Given the description of an element on the screen output the (x, y) to click on. 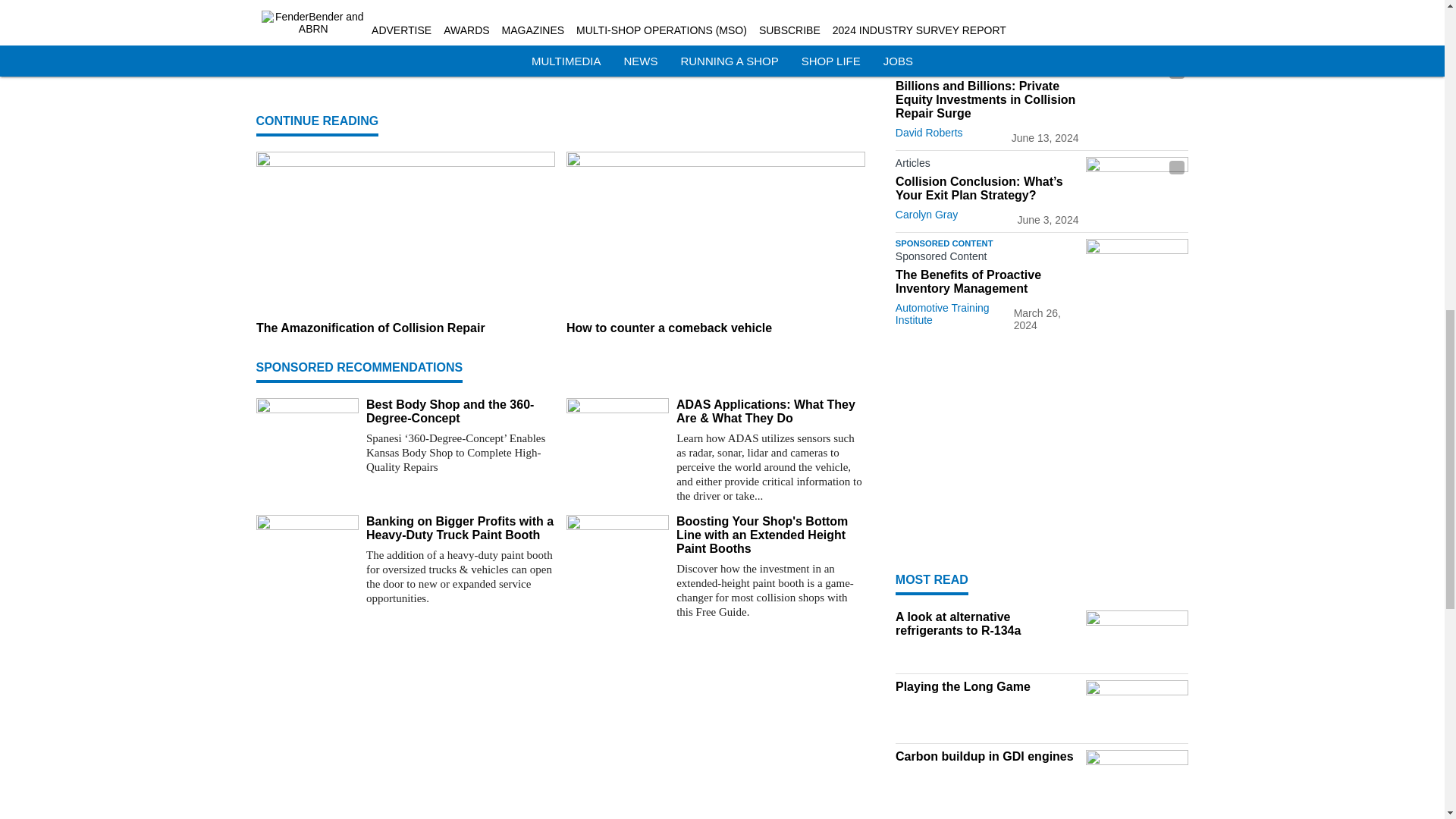
www.toyotires.com (456, 49)
Articles (986, 70)
David Roberts (928, 132)
The Amazonification of Collision Repair (405, 327)
Best Body Shop and the 360-Degree-Concept (459, 411)
Articles (986, 166)
How to counter a comeback vehicle (715, 327)
